Given the description of an element on the screen output the (x, y) to click on. 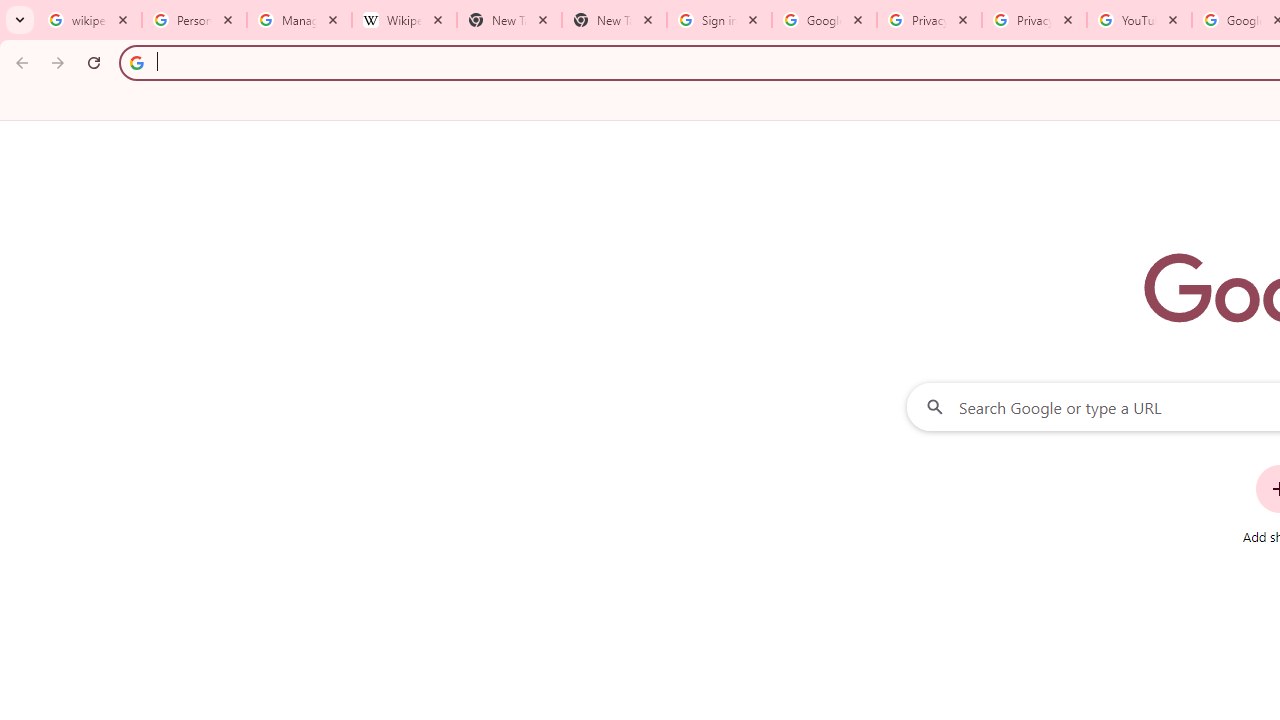
Wikipedia:Edit requests - Wikipedia (404, 20)
Personalization & Google Search results - Google Search Help (194, 20)
Sign in - Google Accounts (718, 20)
Manage your Location History - Google Search Help (299, 20)
YouTube (1138, 20)
Google Drive: Sign-in (823, 20)
